Given the description of an element on the screen output the (x, y) to click on. 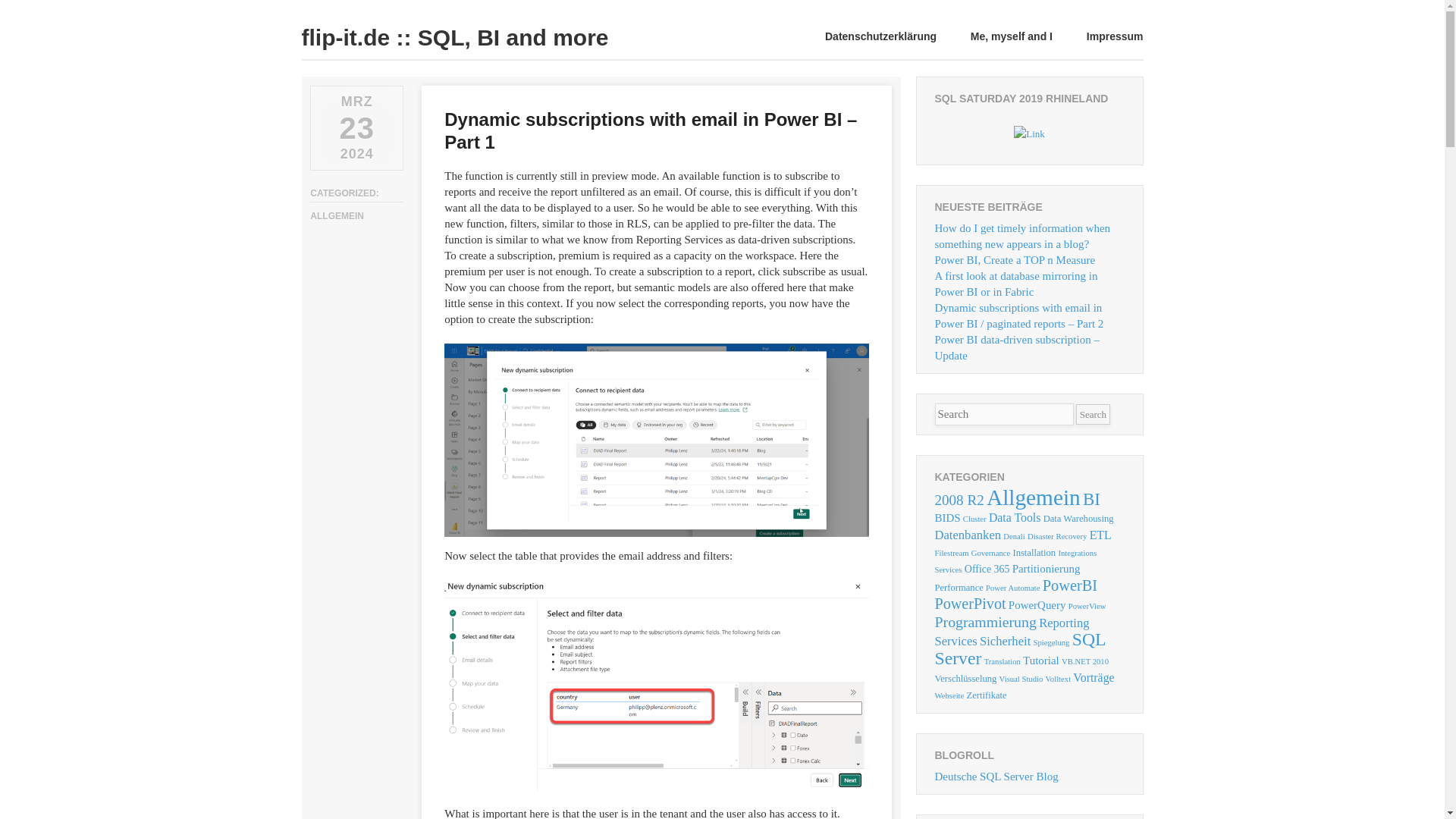
BIDS (946, 517)
BI (1091, 498)
Power Automate (1012, 587)
Search (1092, 414)
Filestream (951, 552)
Me, myself and I (1011, 36)
Power BI, Create a TOP n Measure (1014, 259)
Partitionierung (1045, 568)
ALLGEMEIN (337, 215)
Impressum (1114, 36)
